Given the description of an element on the screen output the (x, y) to click on. 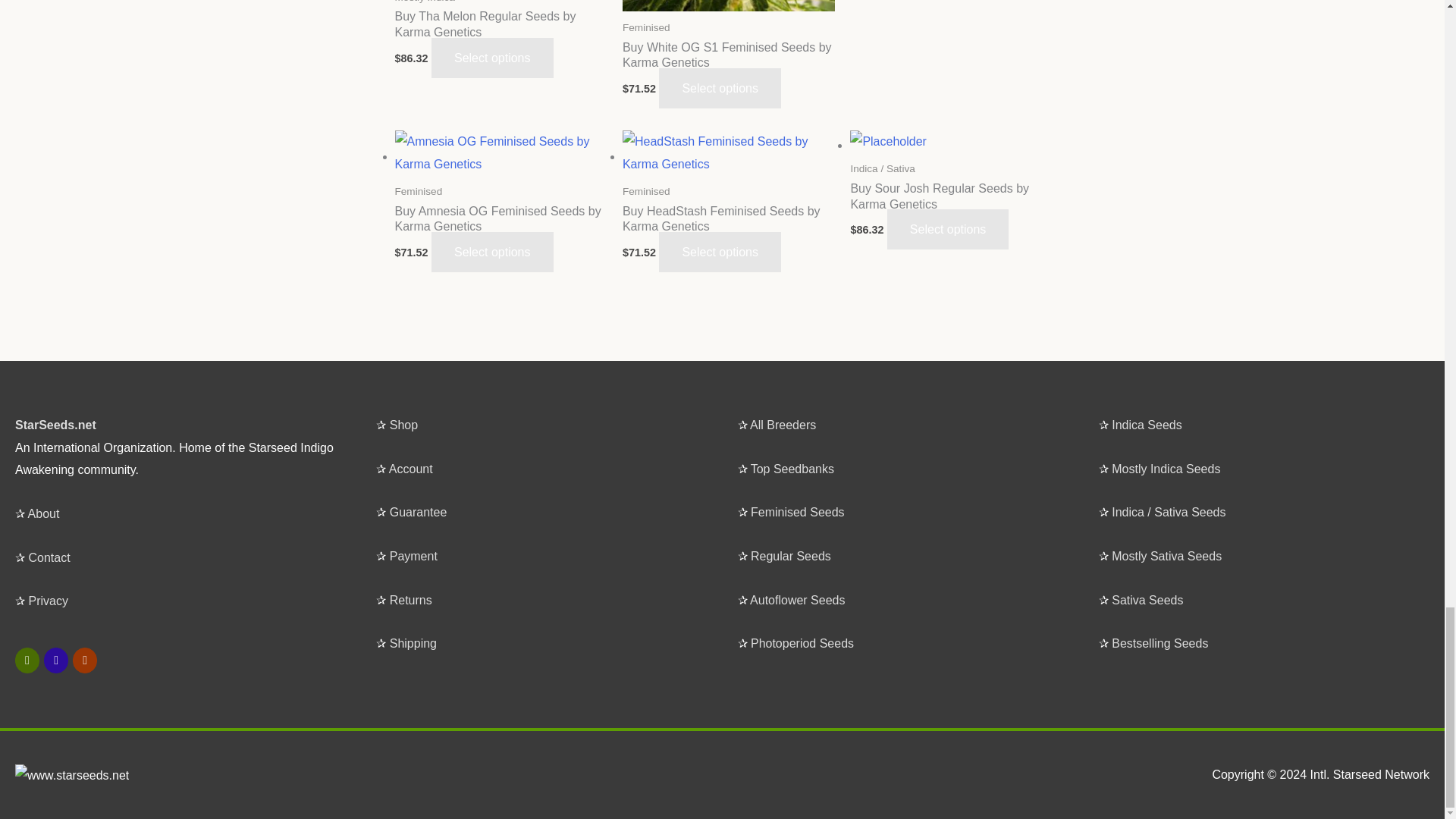
Intl. Starseed Network on Instagram (55, 660)
Intl. Starseed Network on Facebook (26, 660)
Select options (491, 57)
Intl. Starseed Network on Envelope (84, 660)
Buy Tha Melon Regular Seeds by Karma Genetics (500, 36)
Buy White OG S1 Feminised Seeds by Karma Genetics (728, 67)
